Given the description of an element on the screen output the (x, y) to click on. 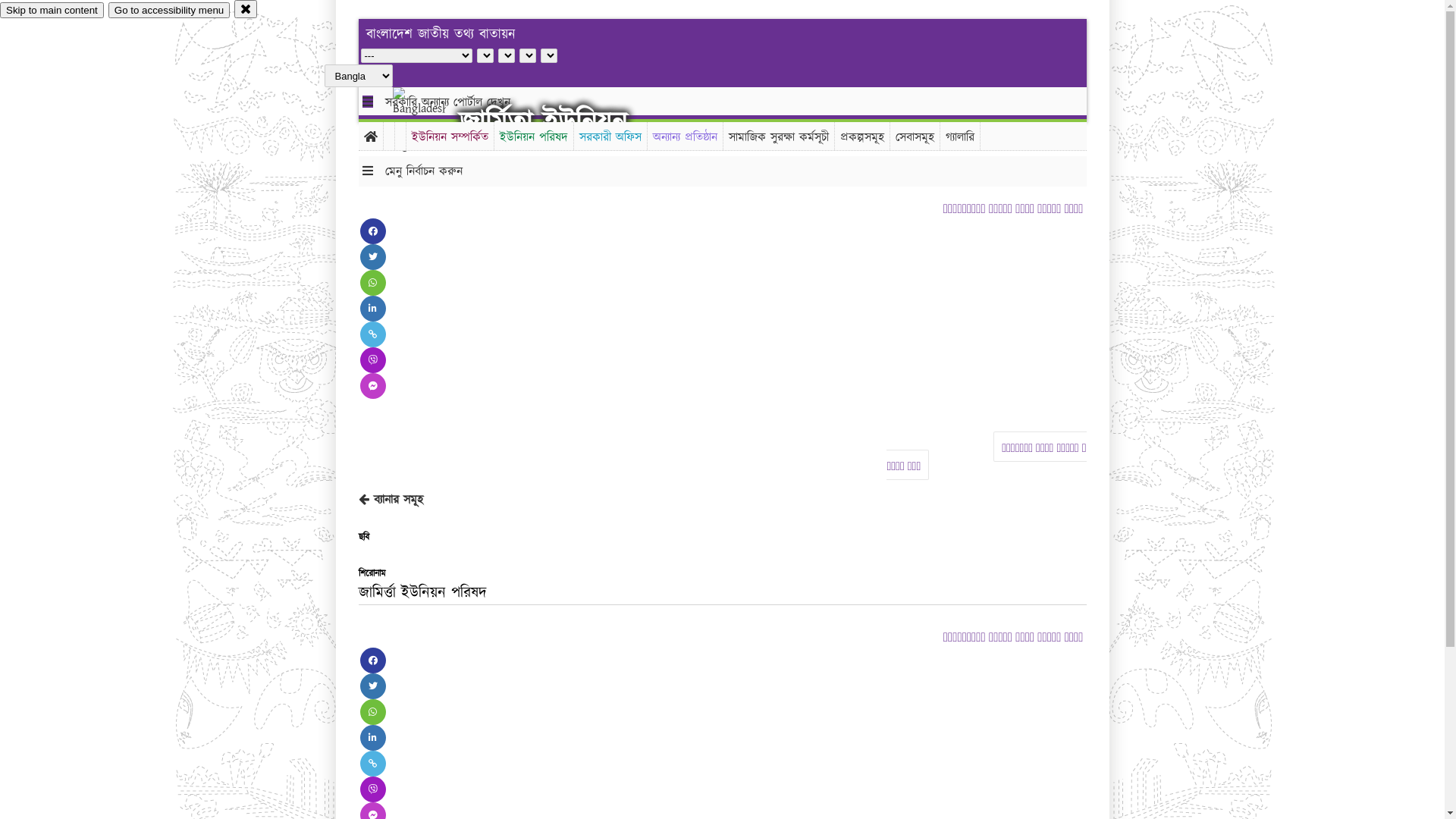

                
             Element type: hover (431, 120)
Skip to main content Element type: text (51, 10)
Go to accessibility menu Element type: text (168, 10)
close Element type: hover (245, 9)
